Given the description of an element on the screen output the (x, y) to click on. 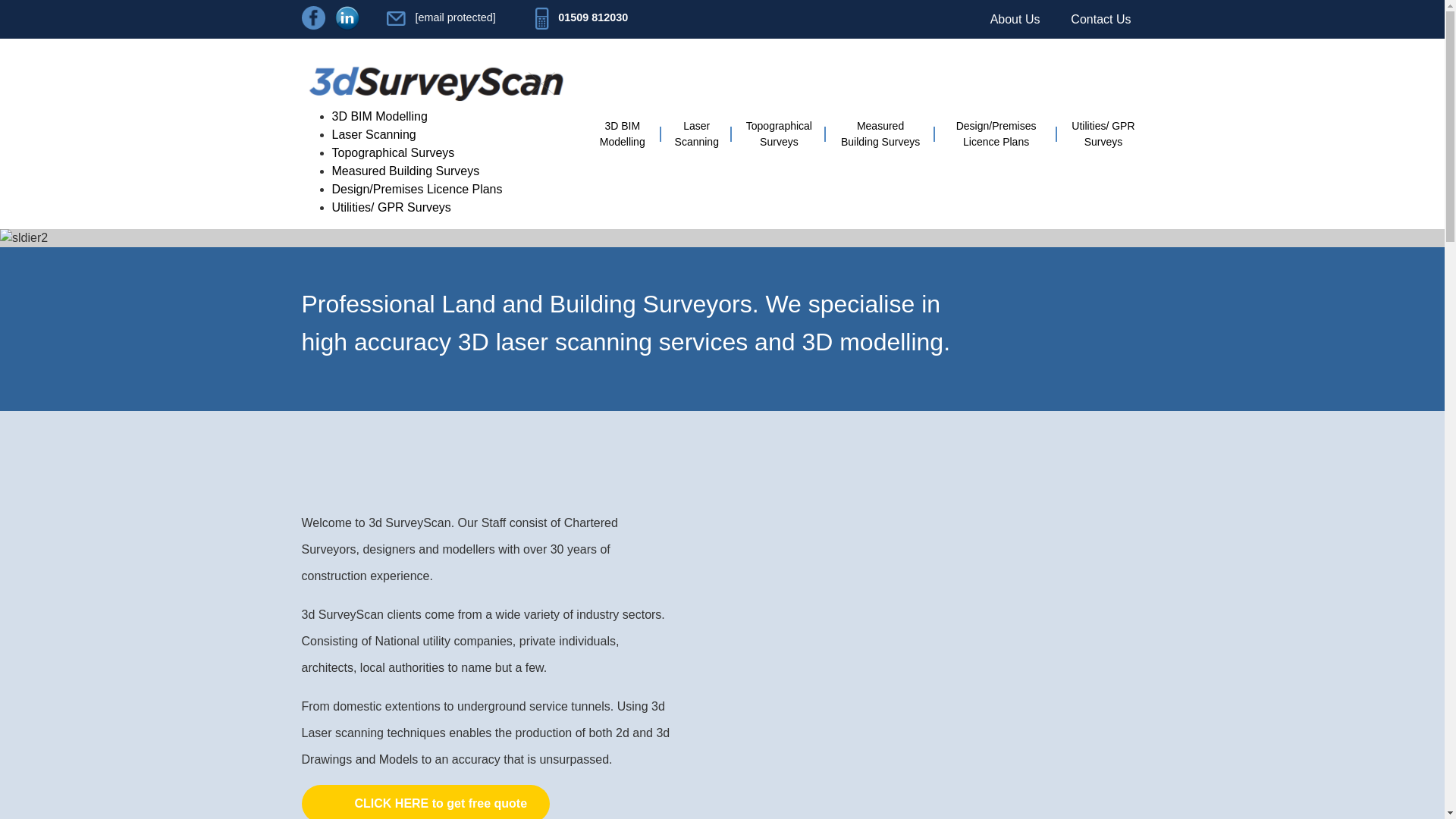
3D BIM Modelling (622, 134)
Measured Building Surveys (405, 170)
3D BIM Modelling (622, 134)
3dsurvey (440, 78)
Laser Scanning (373, 133)
3D BIM Modelling (379, 115)
3D BIM Modelling (379, 115)
Laser Scanning (373, 133)
01509 812030 (581, 18)
About Us (1015, 19)
